Given the description of an element on the screen output the (x, y) to click on. 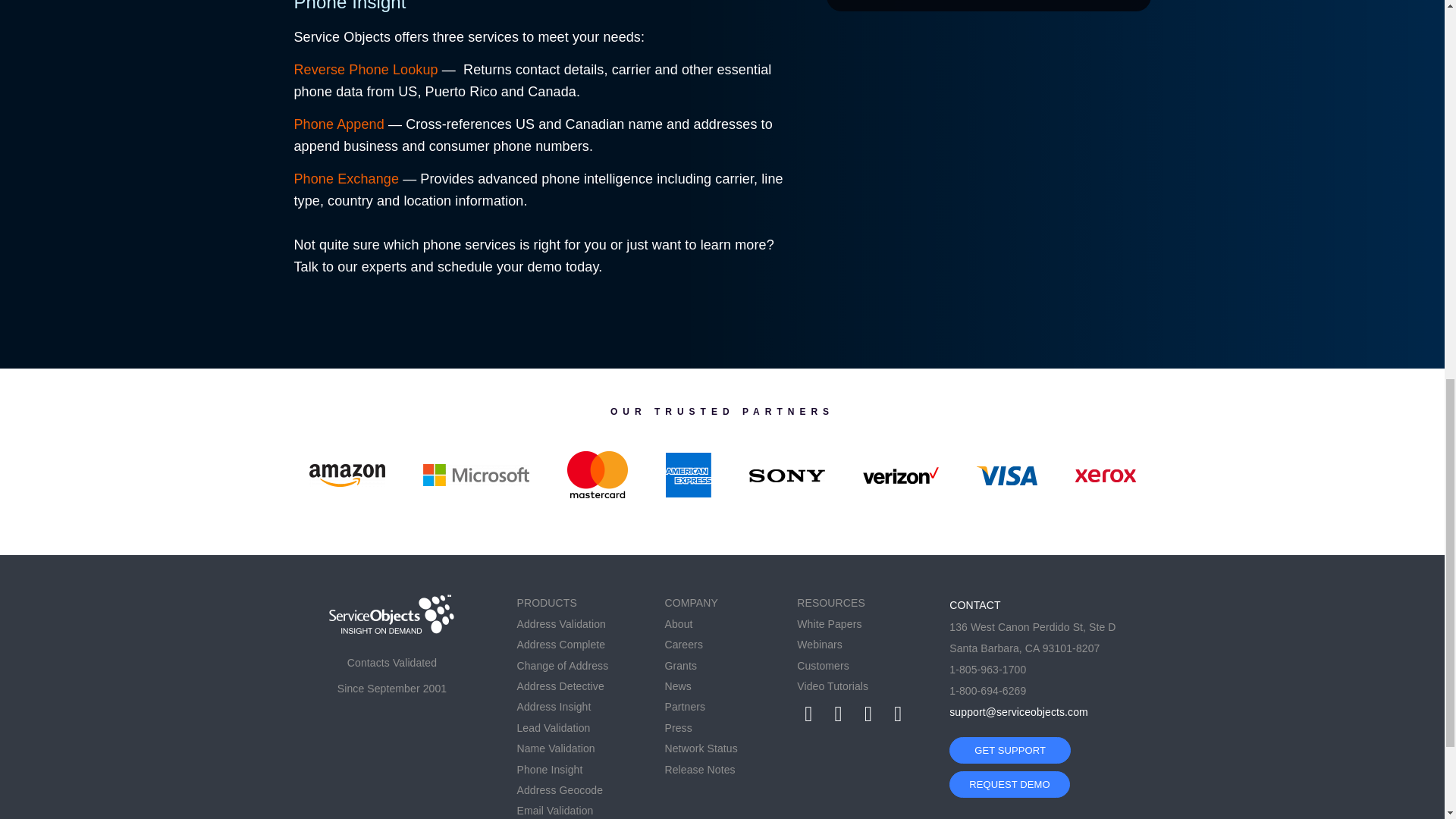
Microsoft (476, 475)
AMEX (688, 474)
Sony (787, 475)
Visa (1006, 475)
Amazon (346, 475)
Verizon (901, 475)
Mastercard (597, 474)
Xerox (1105, 475)
